Given the description of an element on the screen output the (x, y) to click on. 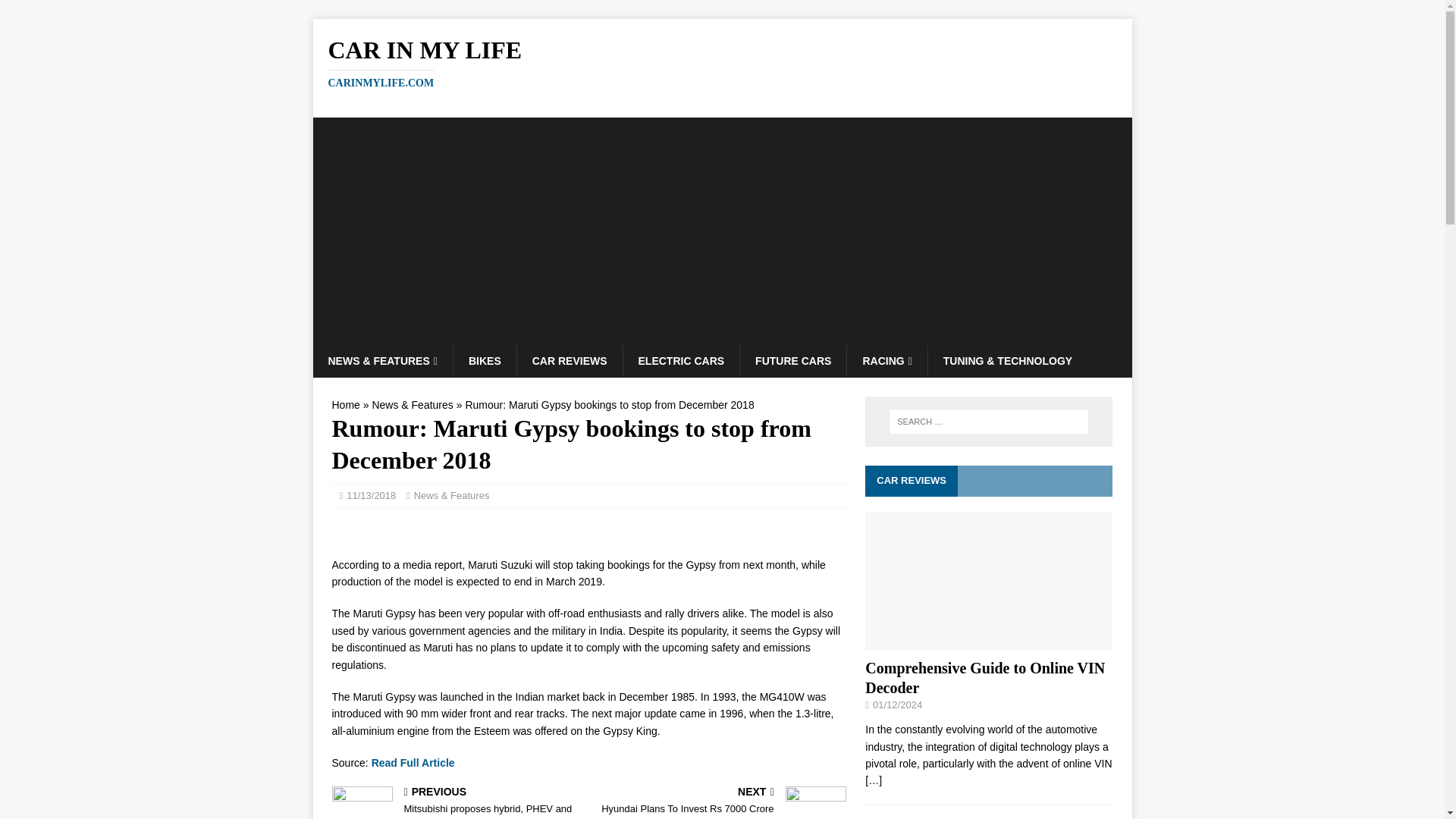
Read Full Article (412, 762)
FUTURE CARS (792, 360)
Comprehensive Guide to Online VIN Decoder (984, 678)
Car in My Life (721, 62)
RACING (720, 802)
ELECTRIC CARS (885, 360)
CAR REVIEWS (681, 360)
